Given the description of an element on the screen output the (x, y) to click on. 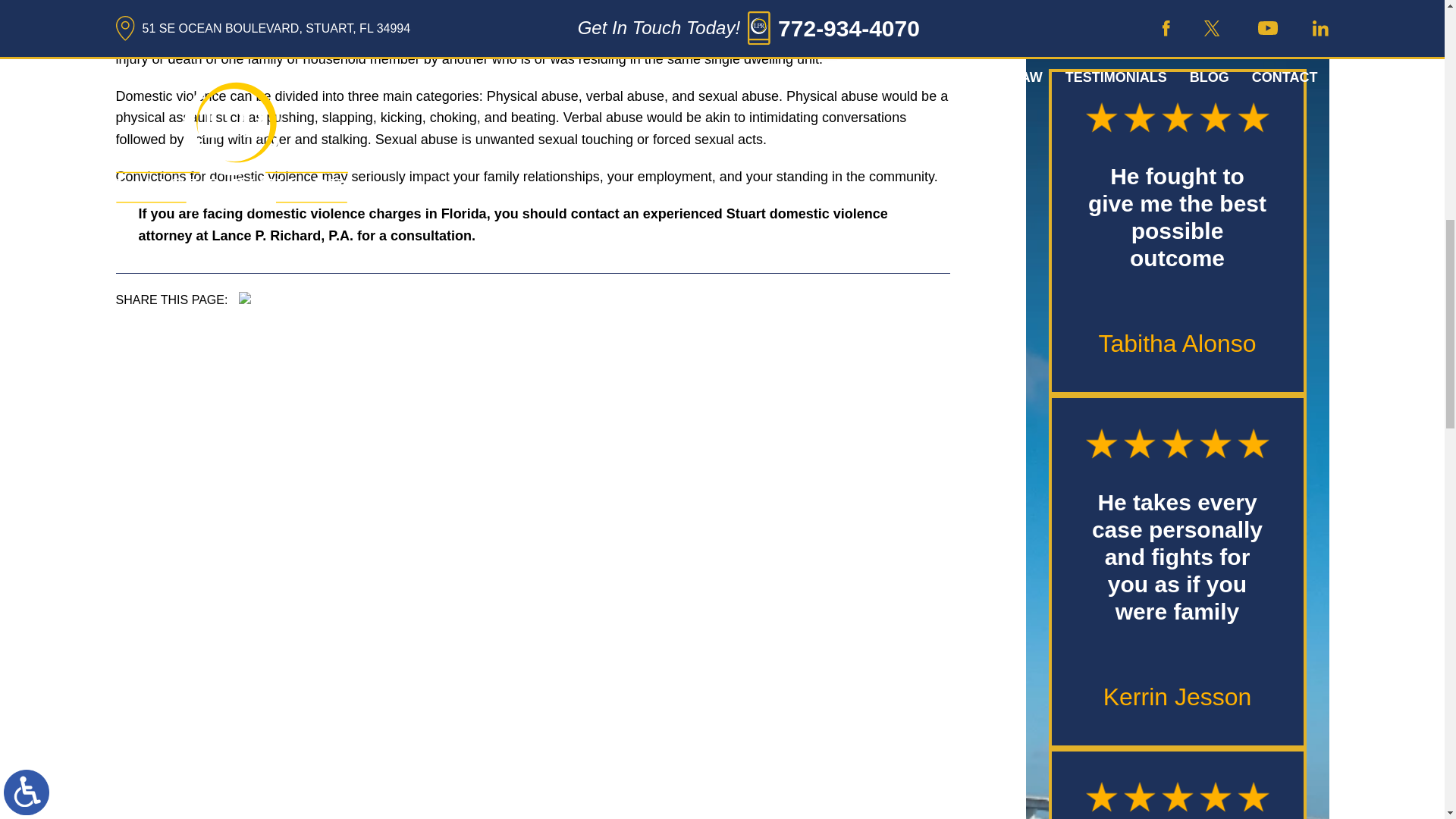
Twitter (255, 297)
Facebook (244, 297)
LinkedIn (266, 297)
